Given the description of an element on the screen output the (x, y) to click on. 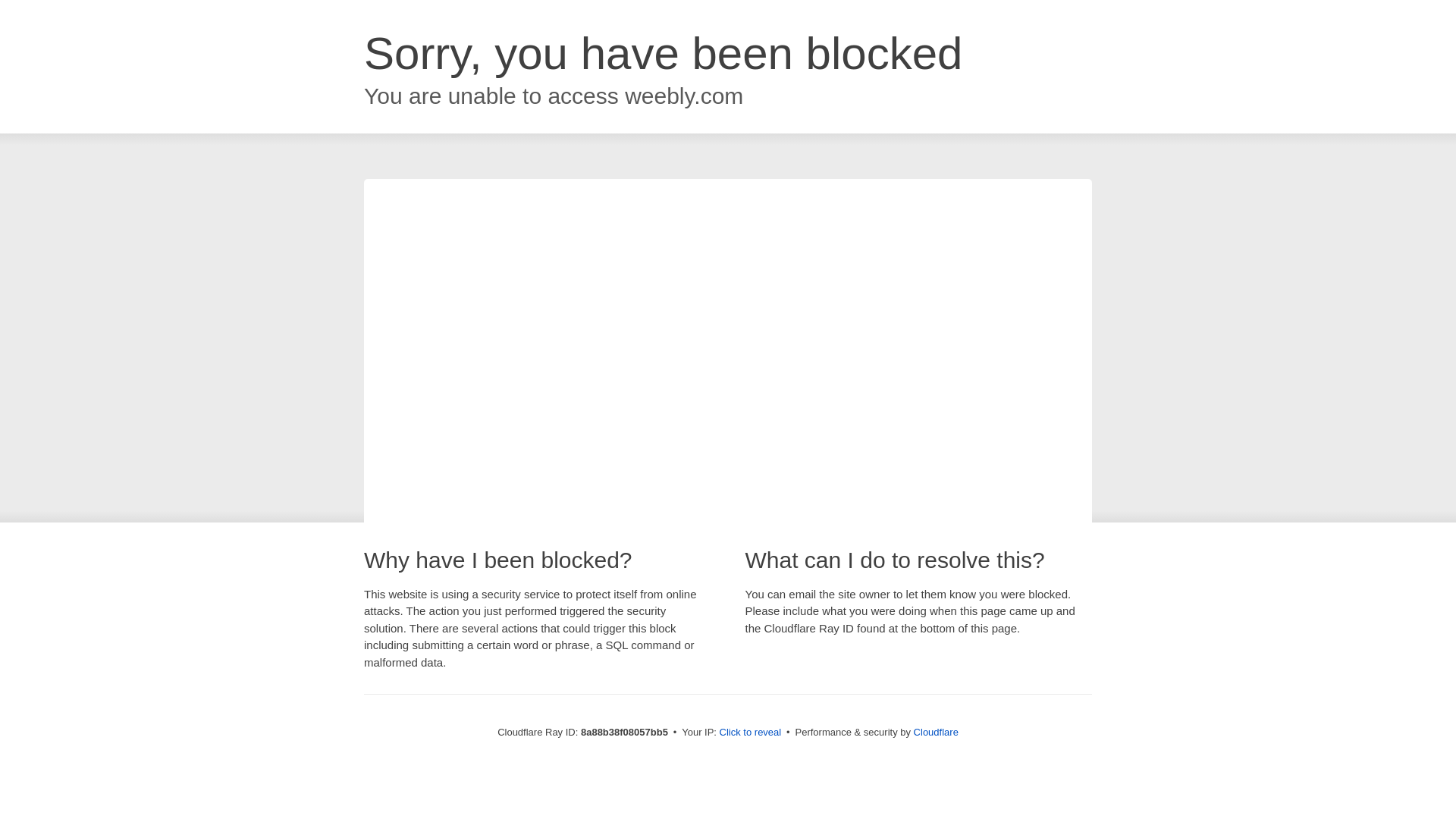
Cloudflare (936, 731)
Click to reveal (750, 732)
